Given the description of an element on the screen output the (x, y) to click on. 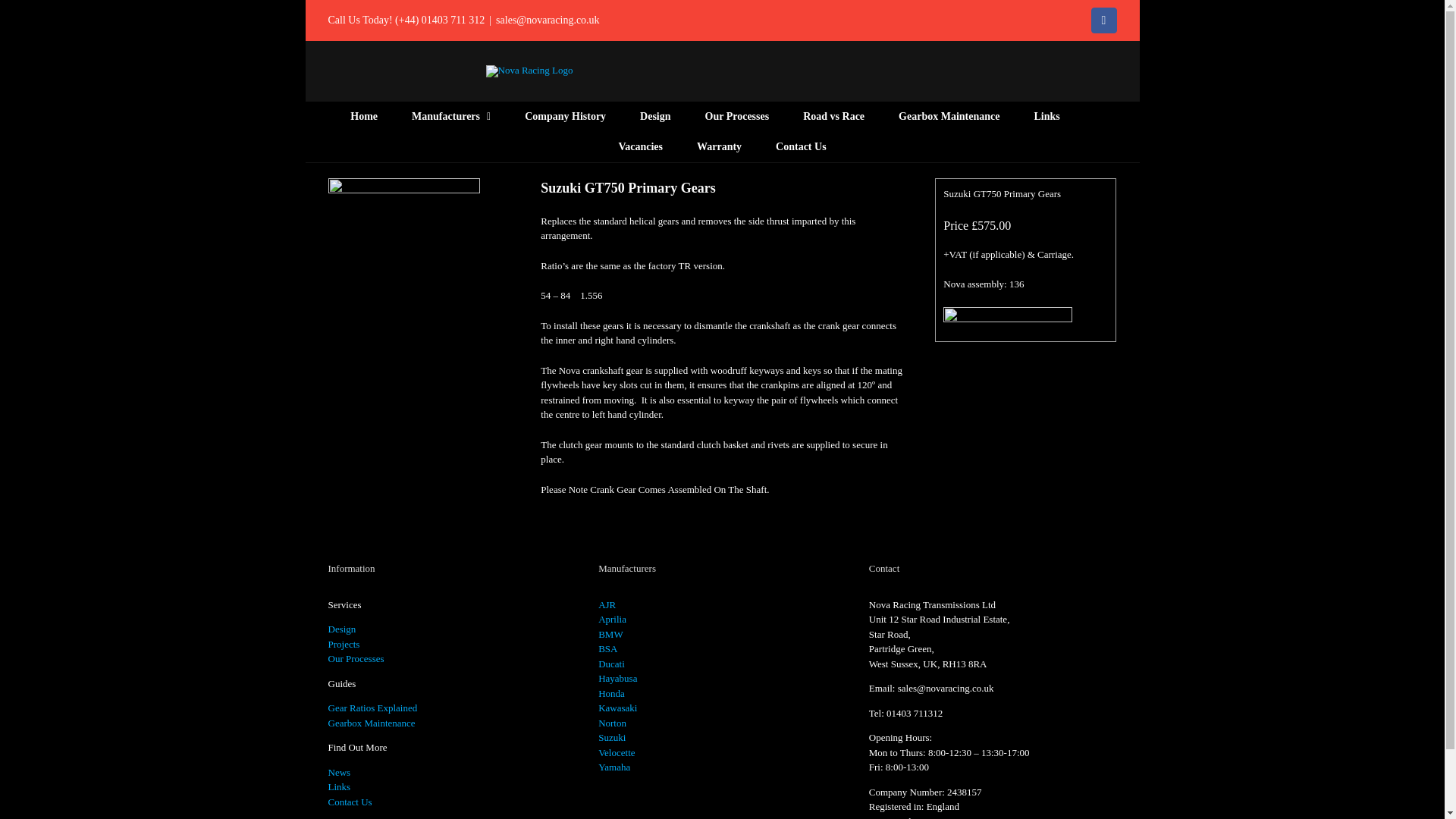
Company History (564, 116)
Manufacturers (451, 116)
SuzukiGT750 (403, 254)
Home (363, 116)
Facebook (1103, 20)
Facebook (1103, 20)
Gearbox Maintenance (948, 116)
Warranty (719, 146)
Vacancies (639, 146)
Road vs Race (833, 116)
Our Processes (737, 116)
Contact Us (801, 146)
Design (654, 116)
